Given the description of an element on the screen output the (x, y) to click on. 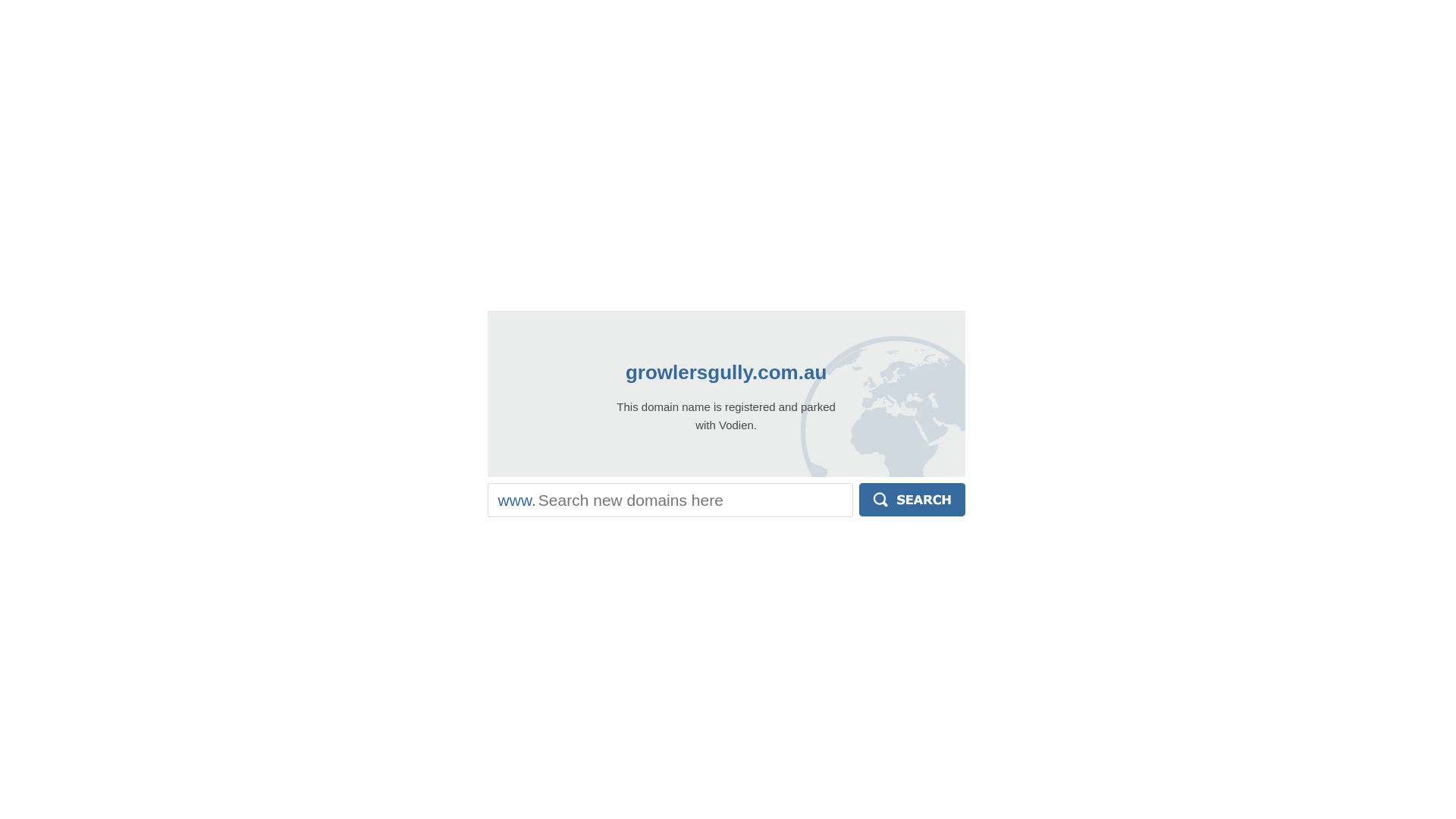
Search Element type: text (912, 499)
